Given the description of an element on the screen output the (x, y) to click on. 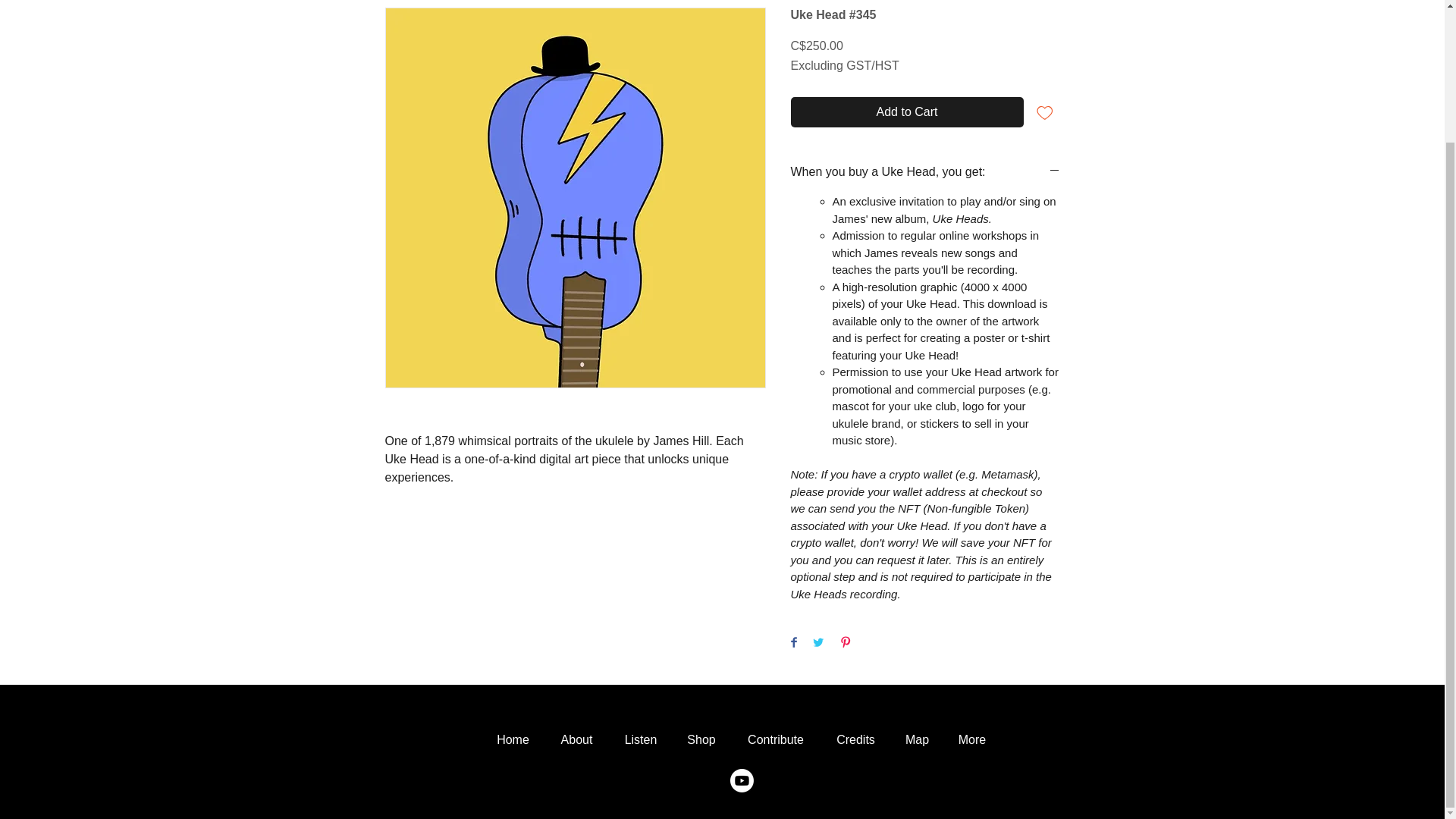
About (577, 740)
Map (916, 740)
When you buy a Uke Head, you get: (924, 171)
Listen (641, 740)
Add to Cart (906, 112)
Home (512, 740)
Contribute (775, 740)
Shop (700, 740)
Credits (855, 740)
